Given the description of an element on the screen output the (x, y) to click on. 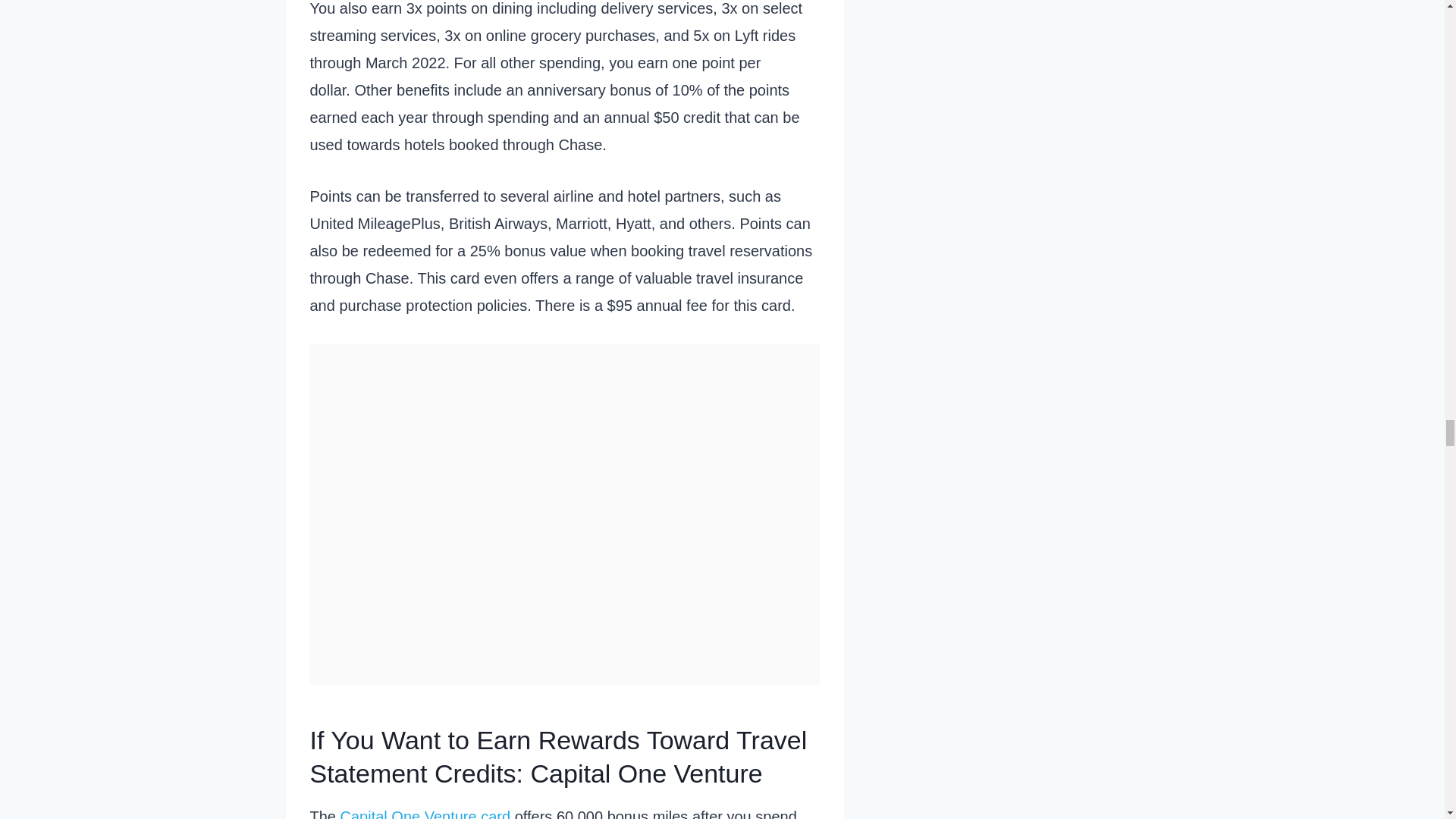
Capital One Venture card (425, 813)
